Given the description of an element on the screen output the (x, y) to click on. 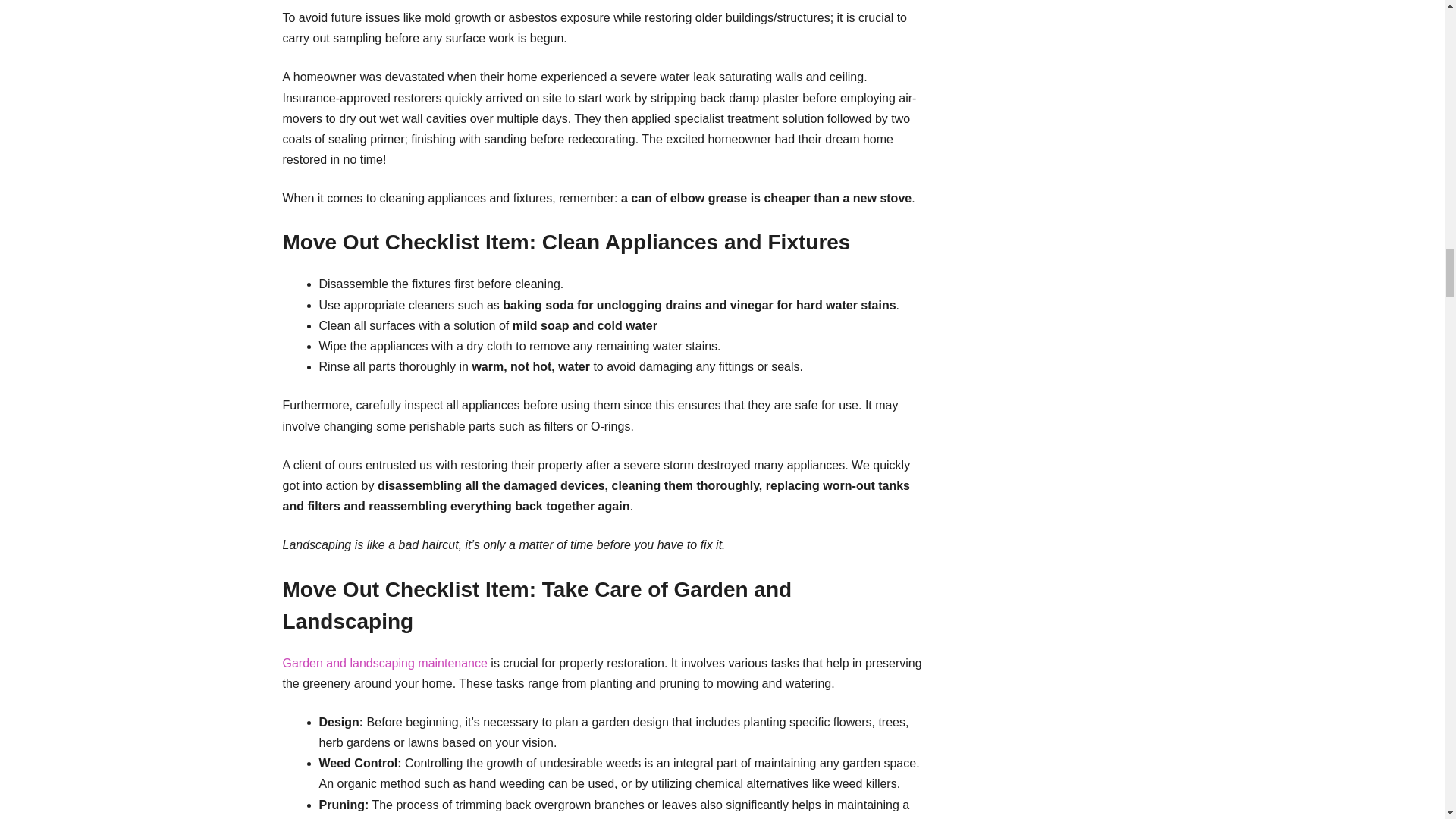
Garden and landscaping maintenance (384, 662)
